Given the description of an element on the screen output the (x, y) to click on. 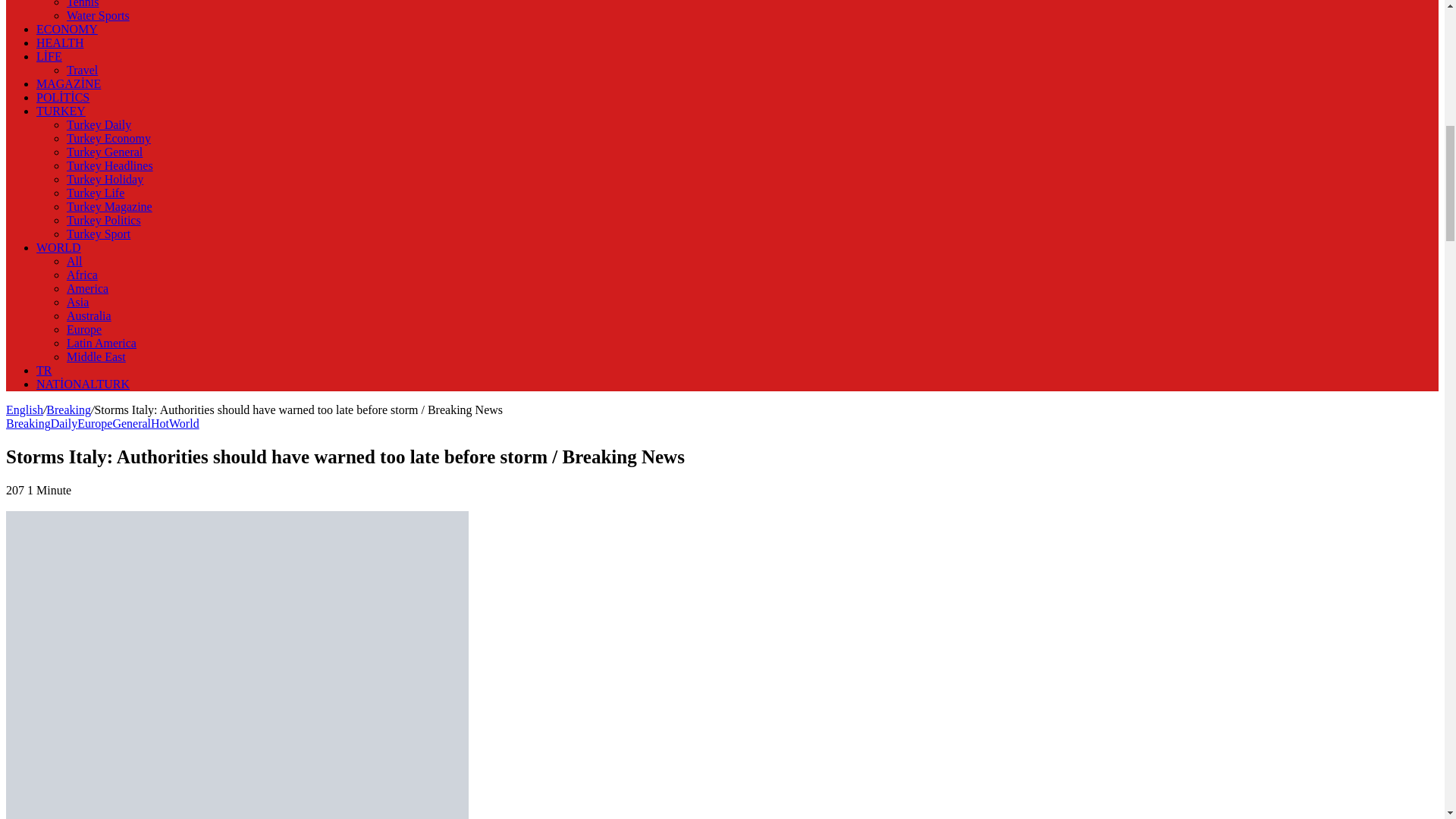
POLITICS (62, 97)
LIFE (49, 56)
Tennis (82, 4)
HEALTH (60, 42)
Water Sports (97, 15)
MAGAZINE (68, 83)
TURKEY (60, 110)
Travel (81, 69)
ECONOMY (66, 29)
